Given the description of an element on the screen output the (x, y) to click on. 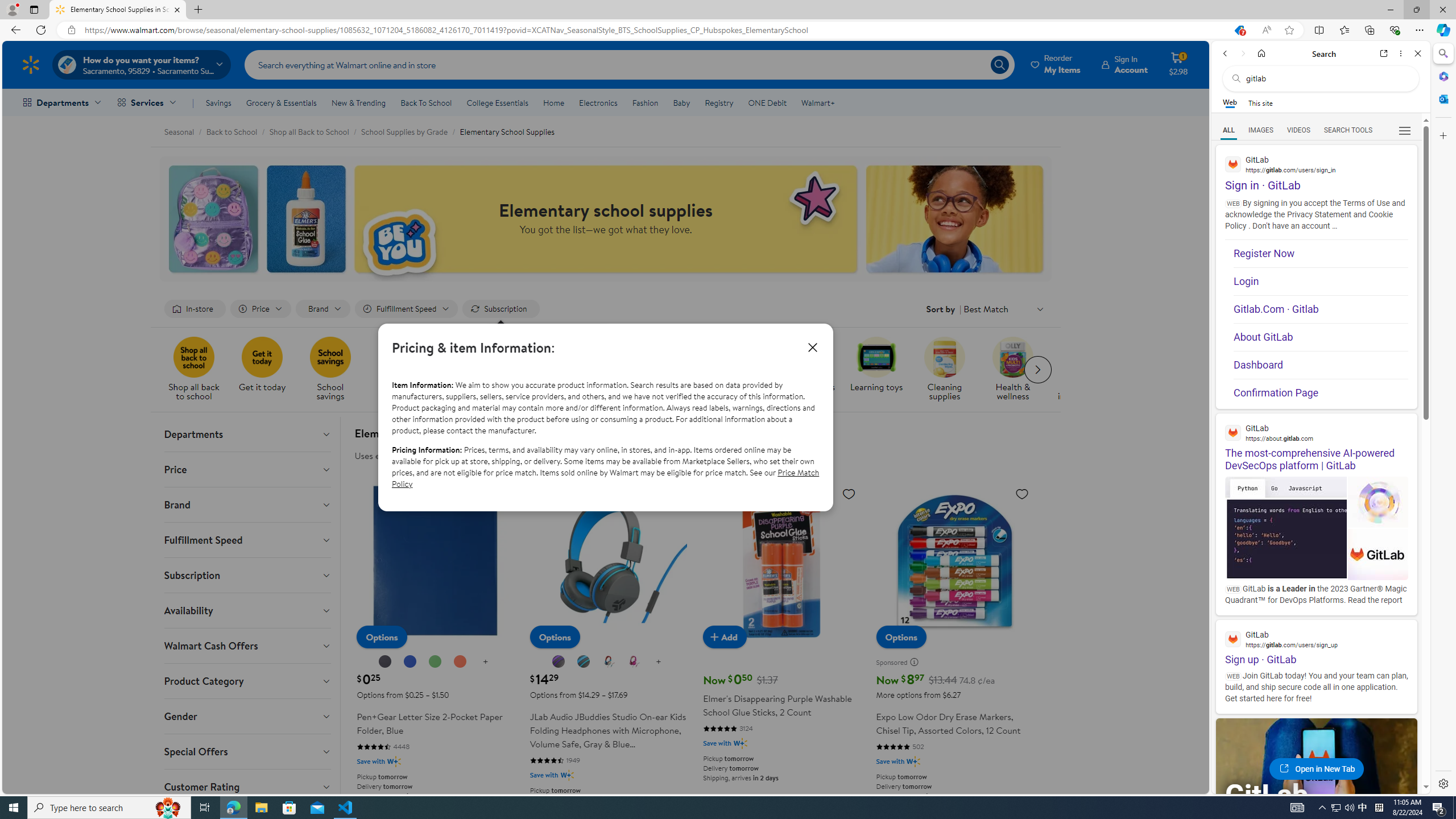
Customize (1442, 135)
This site scope (1259, 102)
Side bar (1443, 418)
Open link in new tab (1383, 53)
IMAGES (1260, 130)
Search the web (1326, 78)
Login (1320, 281)
App bar (728, 29)
About GitLab (1320, 336)
